Given the description of an element on the screen output the (x, y) to click on. 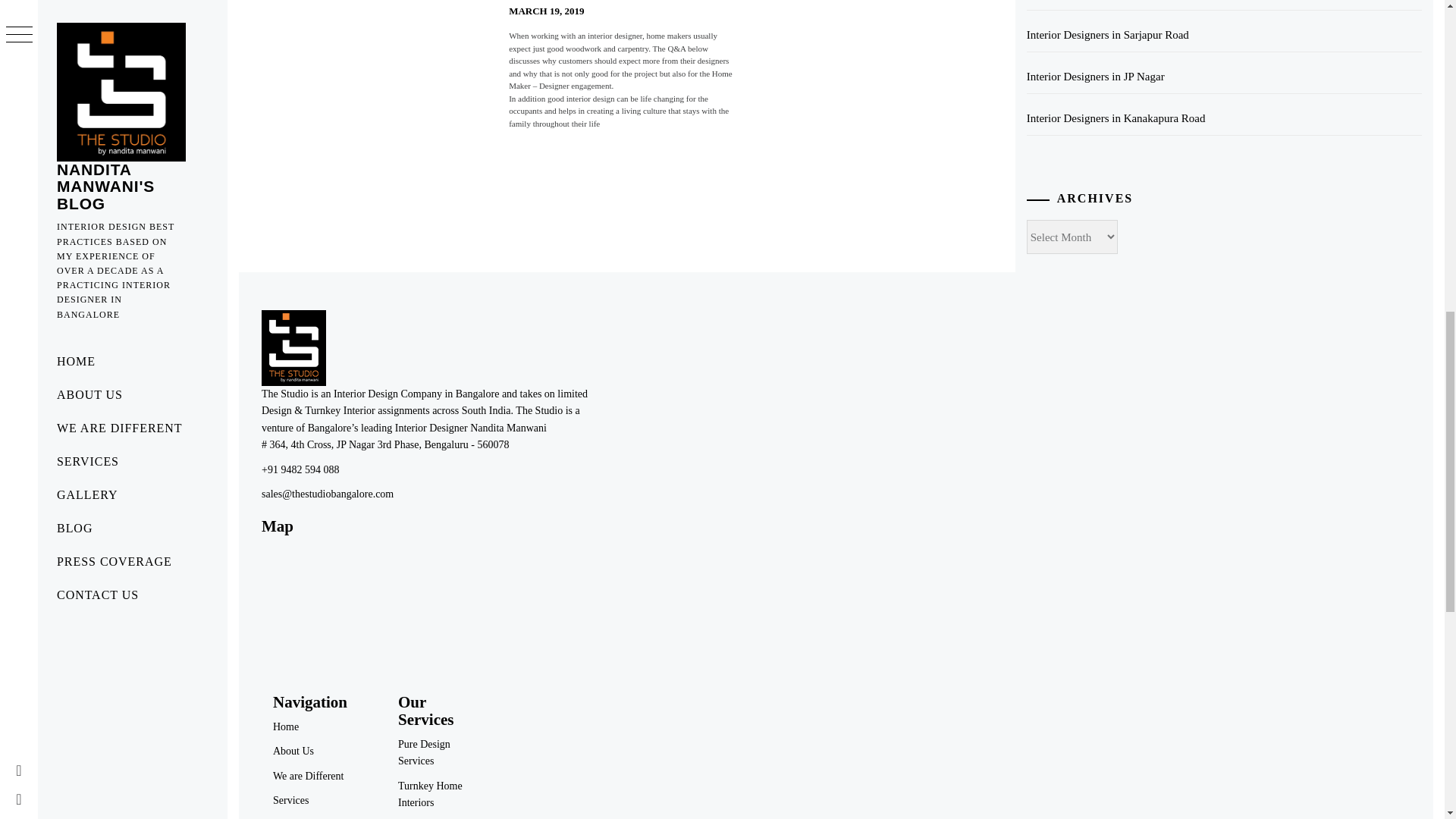
MARCH 19, 2019 (545, 10)
